Given the description of an element on the screen output the (x, y) to click on. 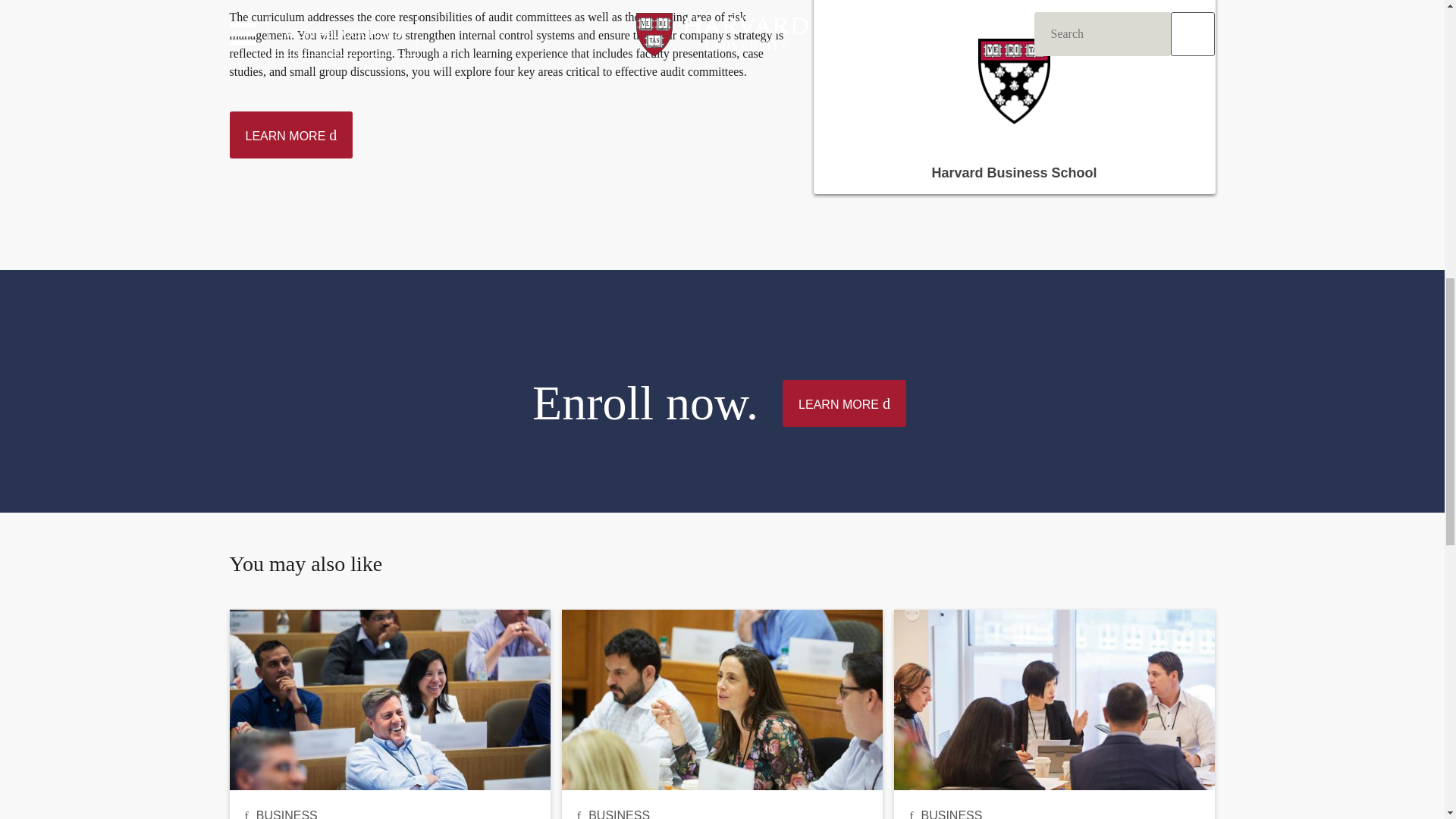
BUSINESS (950, 814)
BUSINESS (618, 814)
LEARN MORE (290, 134)
LEARN MORE (844, 403)
BUSINESS (286, 814)
